Given the description of an element on the screen output the (x, y) to click on. 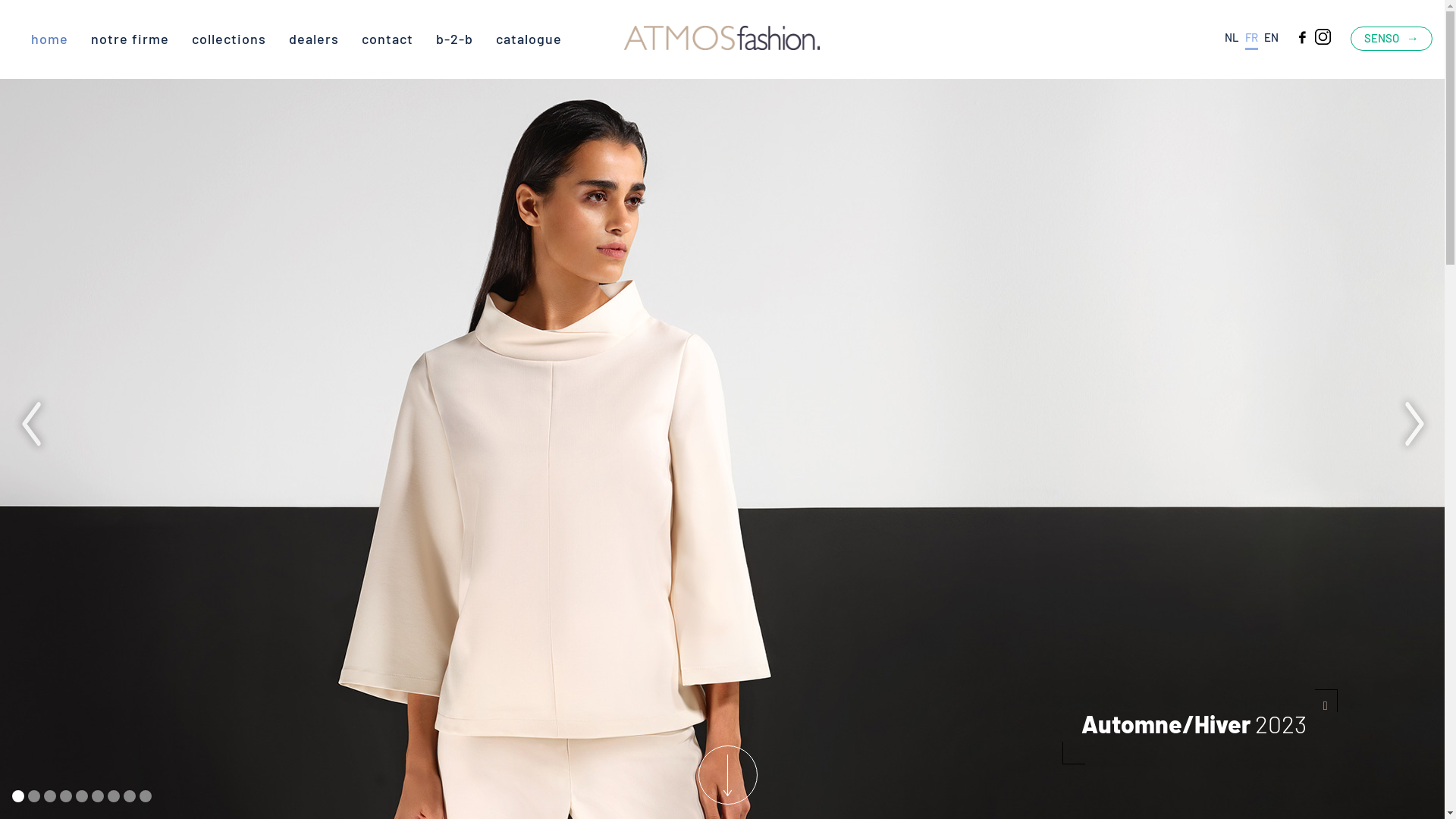
SENSO Element type: text (1391, 37)
collections Element type: text (228, 38)
notre firme Element type: text (130, 38)
home Element type: text (49, 38)
catalogue Element type: text (528, 38)
EN Element type: text (1271, 36)
FR Element type: text (1251, 40)
NL Element type: text (1231, 36)
Visit our facebook page Element type: text (1301, 36)
contact Element type: text (387, 38)
Atmos Fashion Element type: text (721, 39)
b-2-b Element type: text (454, 38)
dealers Element type: text (313, 38)
Visitez notre page Instagram Element type: text (1322, 36)
